Given the description of an element on the screen output the (x, y) to click on. 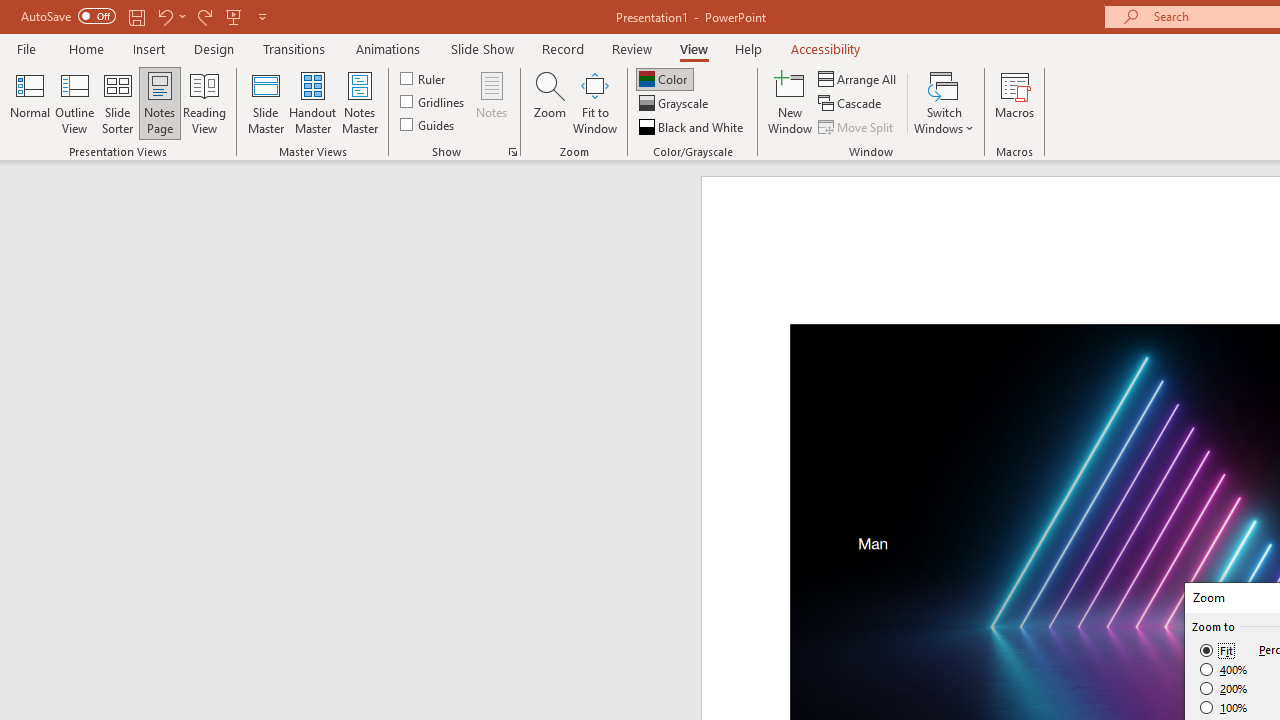
100% (1224, 707)
Slide Master (265, 102)
Ruler (423, 78)
400% (1224, 669)
Fit (1217, 650)
